Given the description of an element on the screen output the (x, y) to click on. 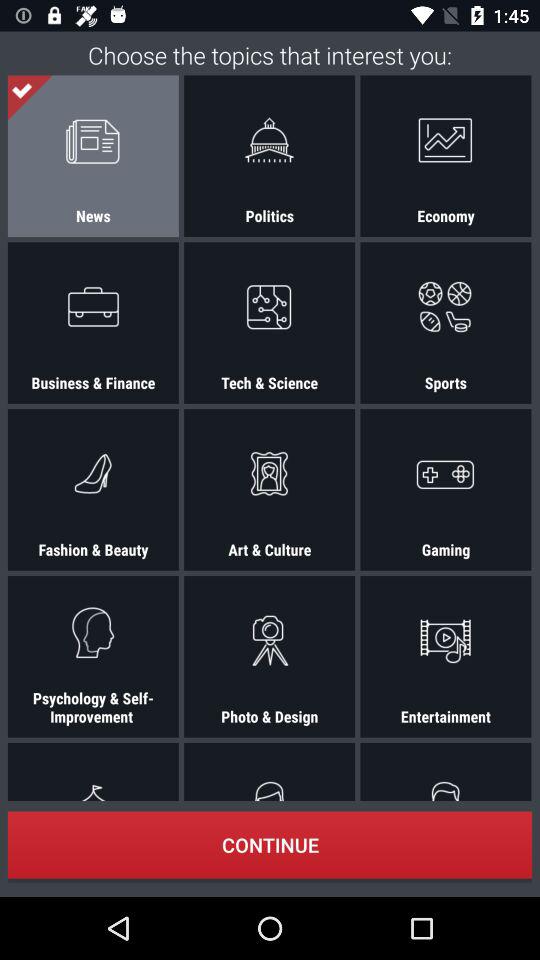
jump until continue button (269, 844)
